Given the description of an element on the screen output the (x, y) to click on. 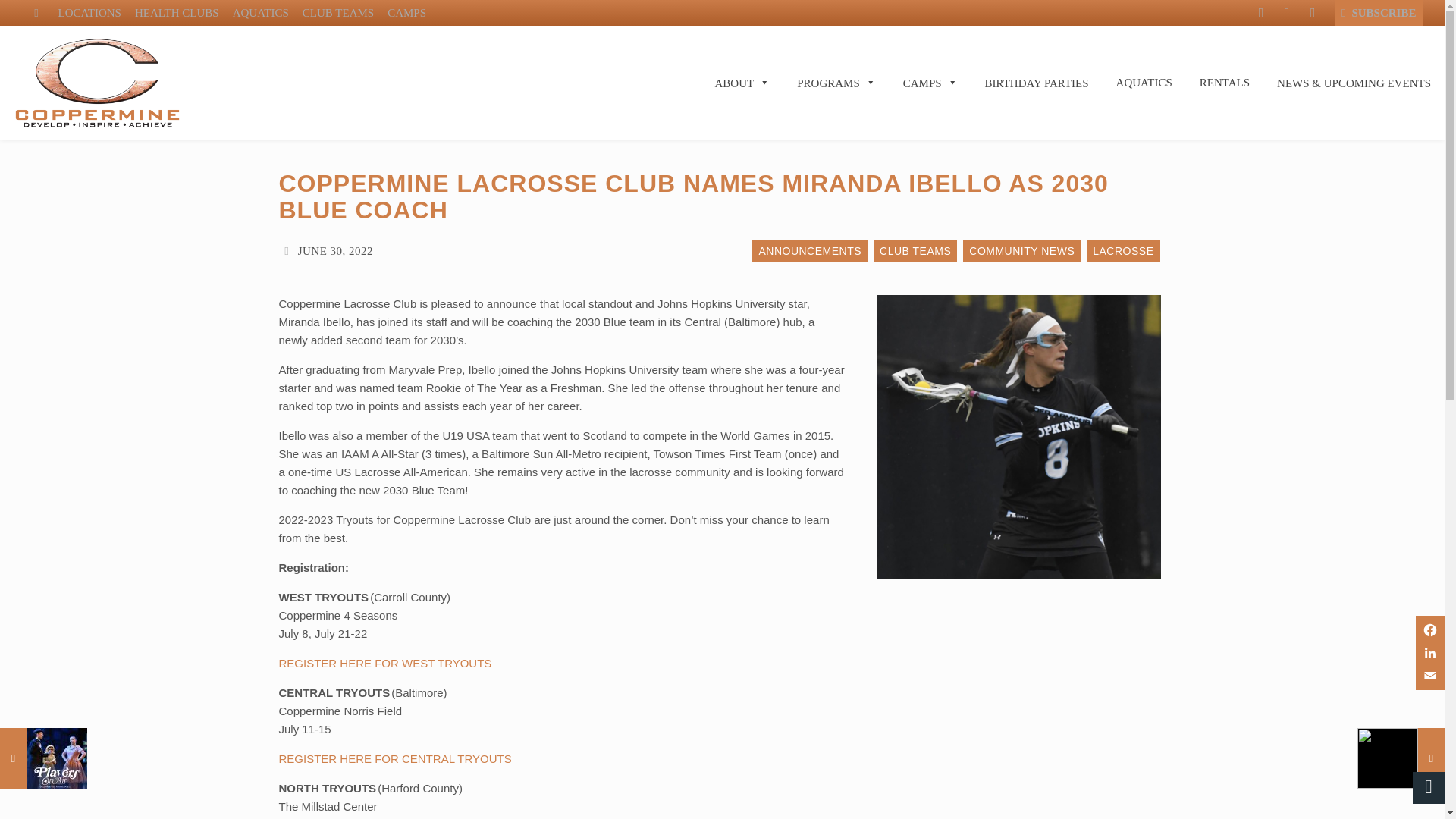
ABOUT (742, 82)
Coppermine (346, 82)
Email (1429, 675)
Facebook (1429, 630)
LinkedIn (1429, 652)
PROGRAMS (836, 82)
